Given the description of an element on the screen output the (x, y) to click on. 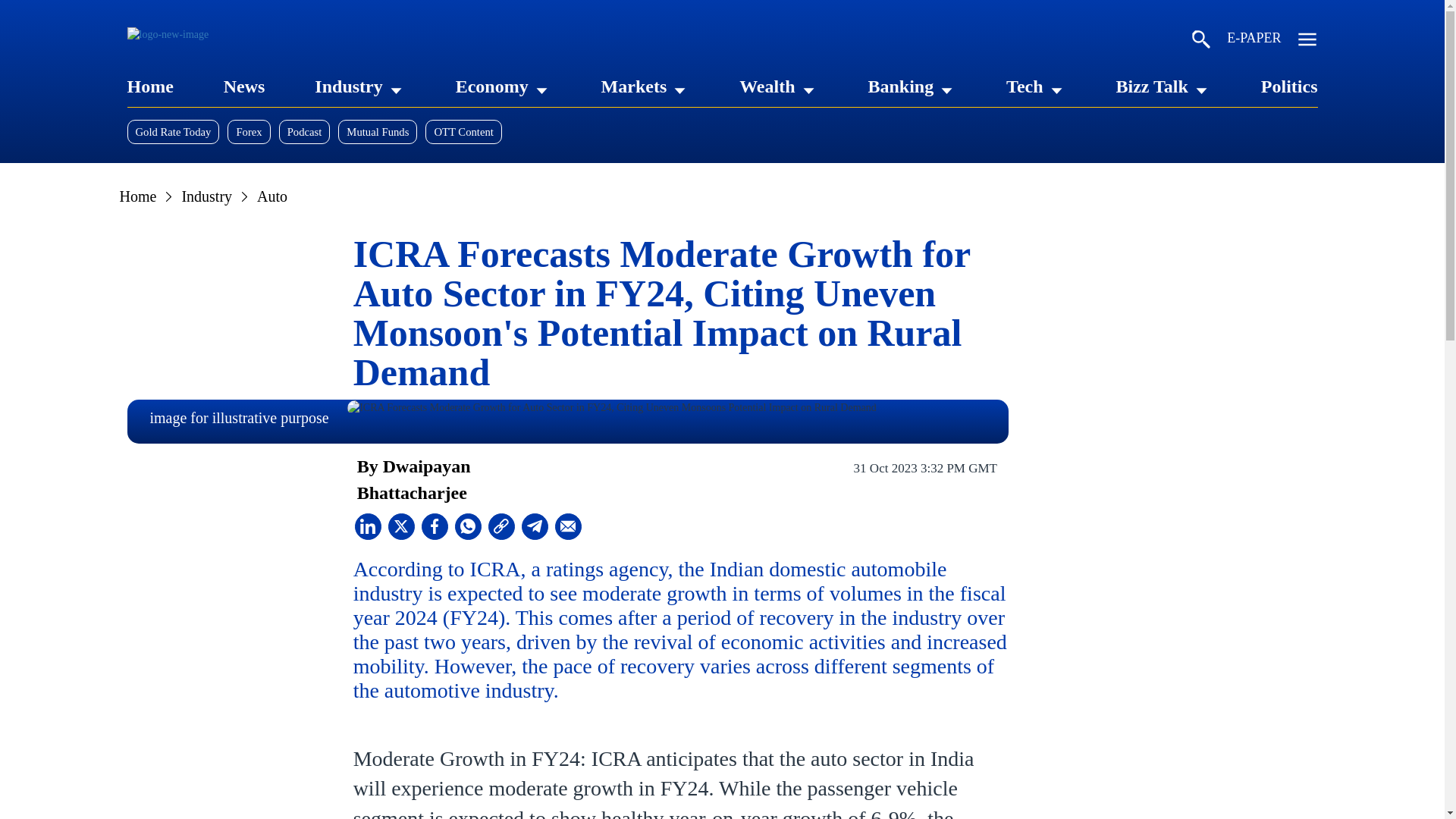
Share by Email (567, 526)
Markets (633, 86)
News (244, 86)
Industry (347, 86)
E-PAPER (1254, 41)
Home (150, 86)
Economy (491, 86)
LinkedIn (368, 526)
Wealth (766, 86)
